Given the description of an element on the screen output the (x, y) to click on. 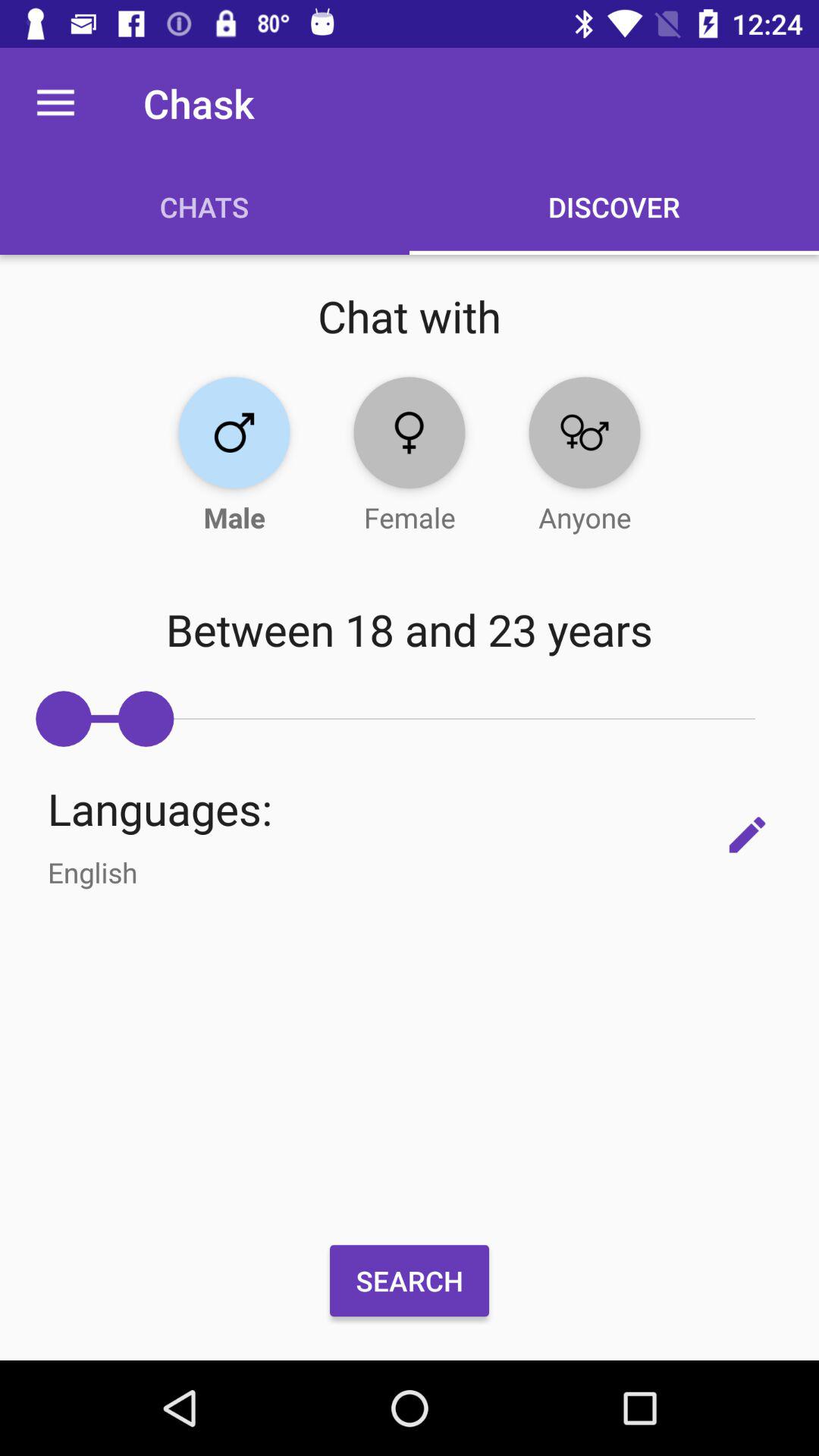
female (409, 432)
